Given the description of an element on the screen output the (x, y) to click on. 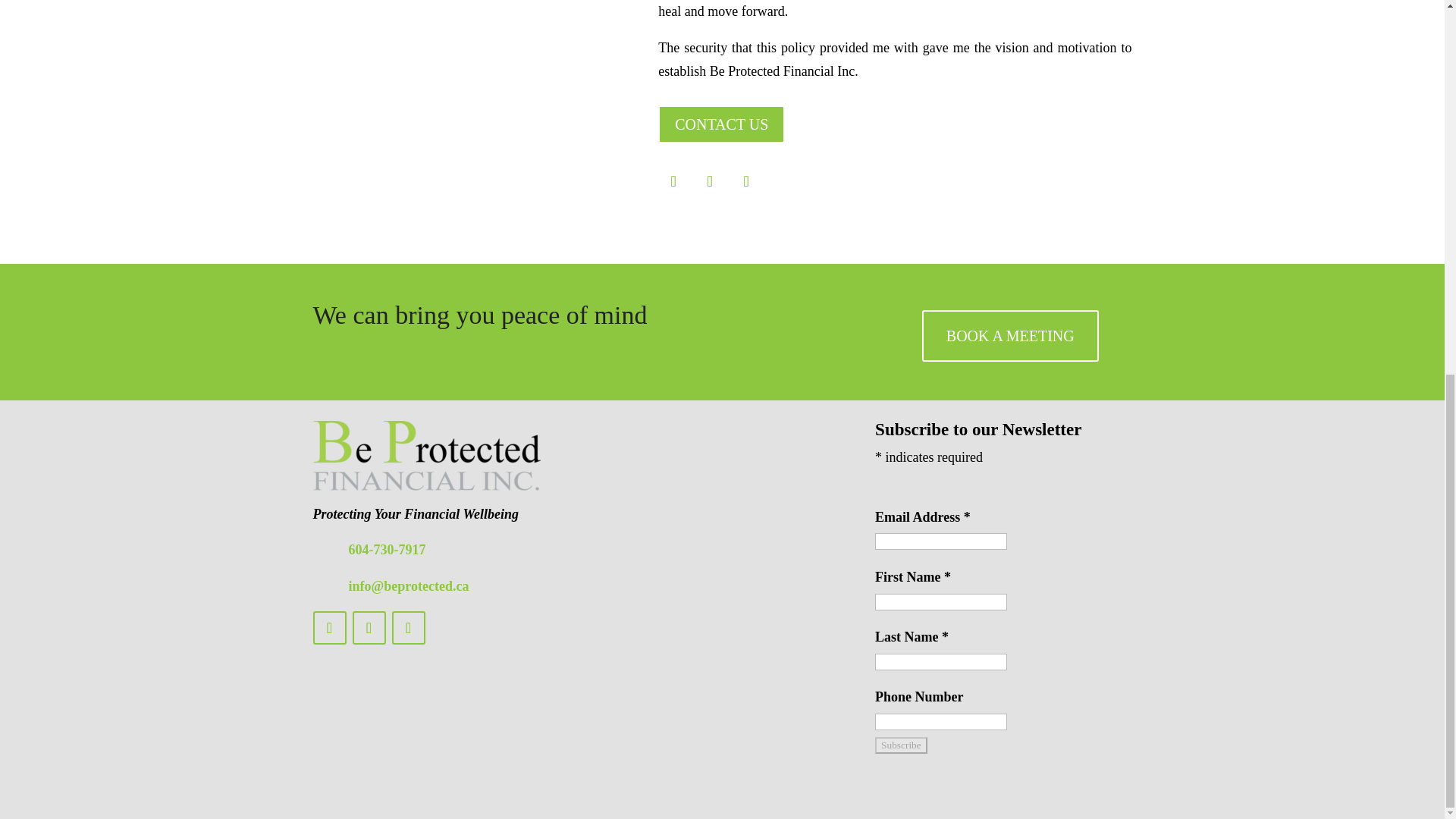
Subscribe (901, 745)
Follow on LinkedIn (368, 627)
Follow on Youtube (745, 181)
Follow on Facebook (329, 627)
beProtectedLogo (426, 455)
Follow on Facebook (673, 181)
Follow on Youtube (408, 627)
Follow on LinkedIn (709, 181)
